Given the description of an element on the screen output the (x, y) to click on. 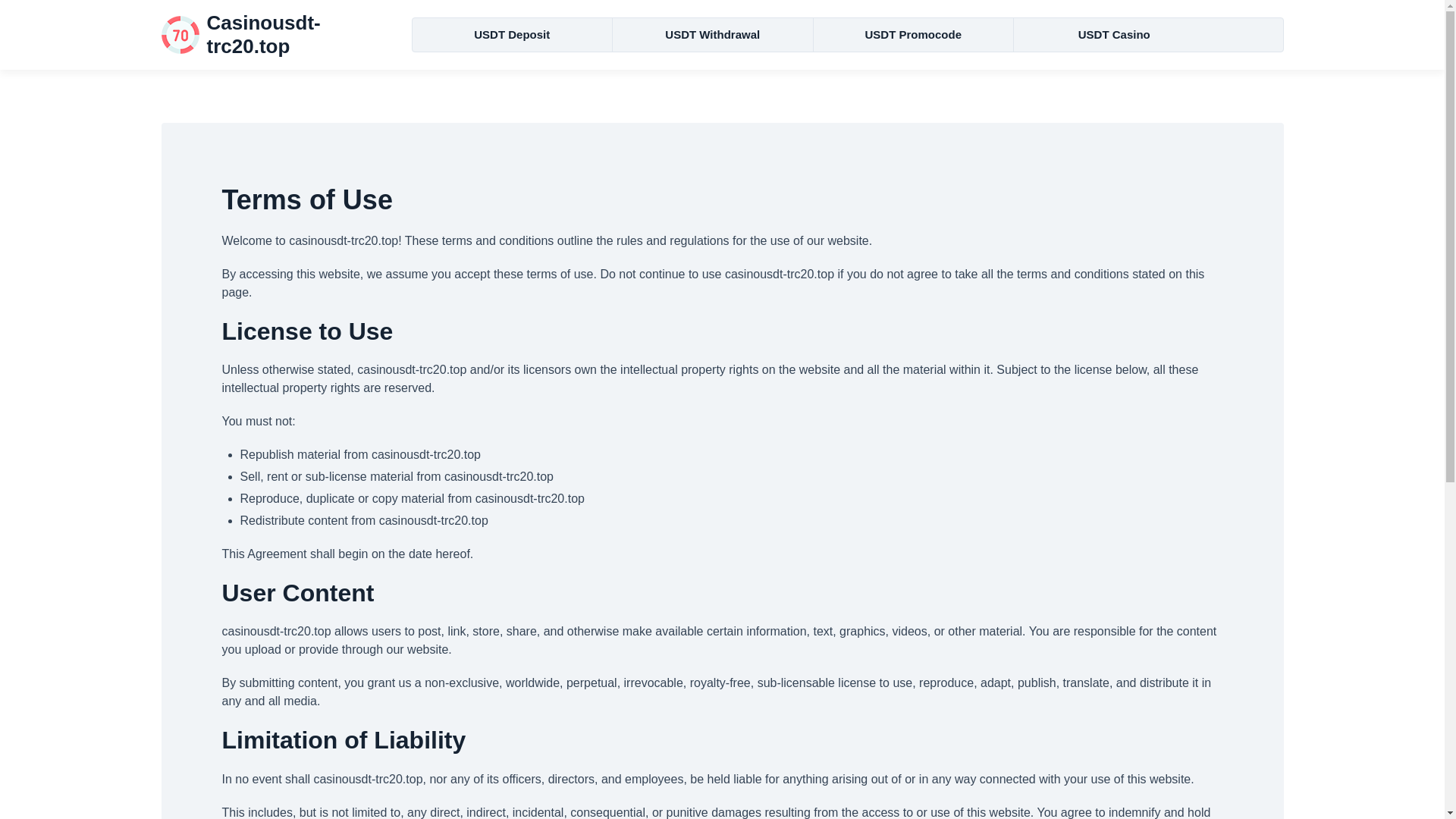
USDT Deposit (512, 34)
Casinousdt-trc20.top (274, 34)
USDT Withdrawal (712, 34)
USDT Promocode (912, 34)
USDT Casino (1113, 34)
